Given the description of an element on the screen output the (x, y) to click on. 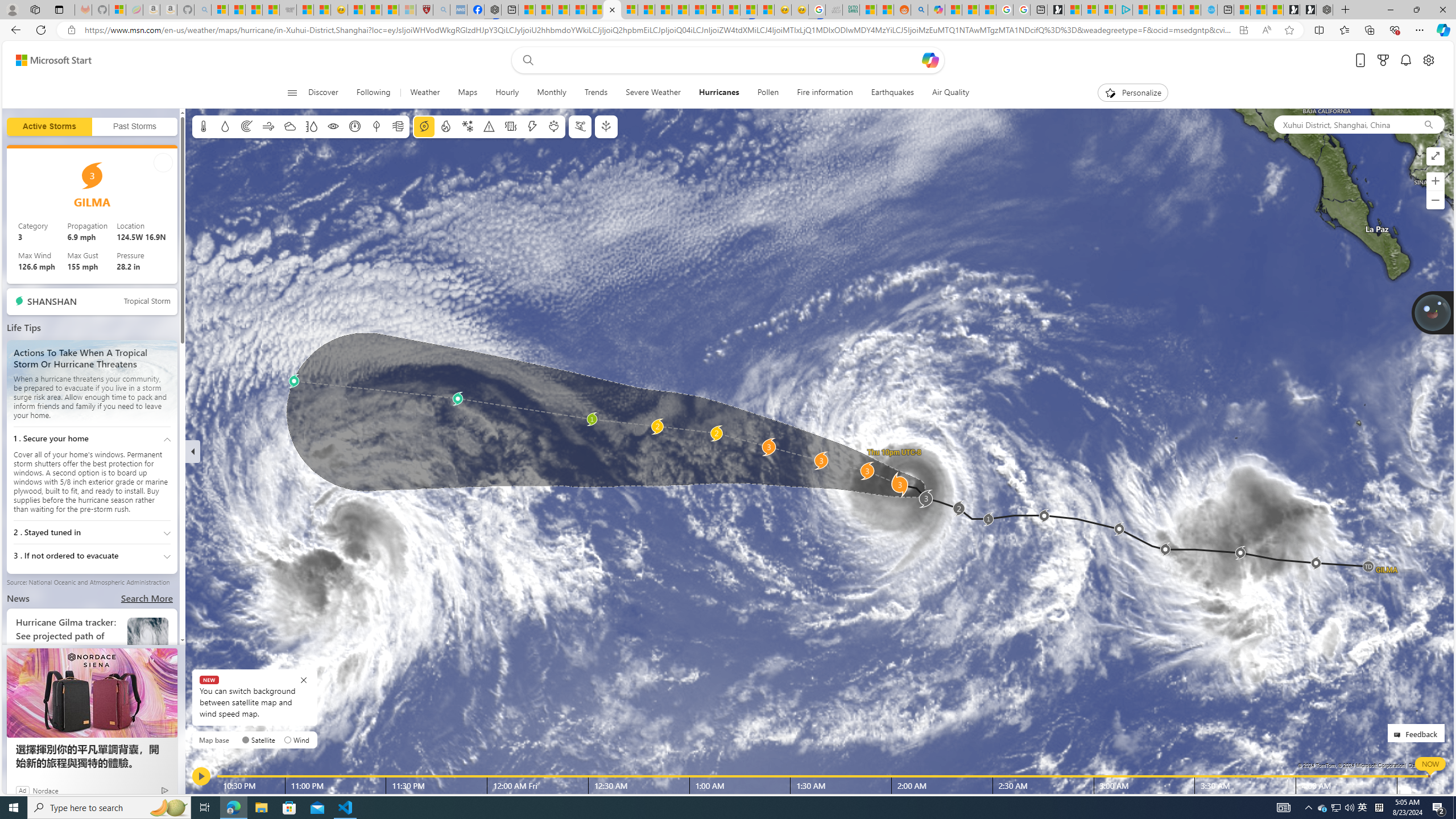
Air Quality (950, 92)
Enter full screen mode (1435, 156)
Air quality (397, 126)
Fire information (824, 92)
Class: BubbleMessageCloseIcon-DS-EntryPoint1-1 (303, 679)
Ski conditions (579, 126)
